Given the description of an element on the screen output the (x, y) to click on. 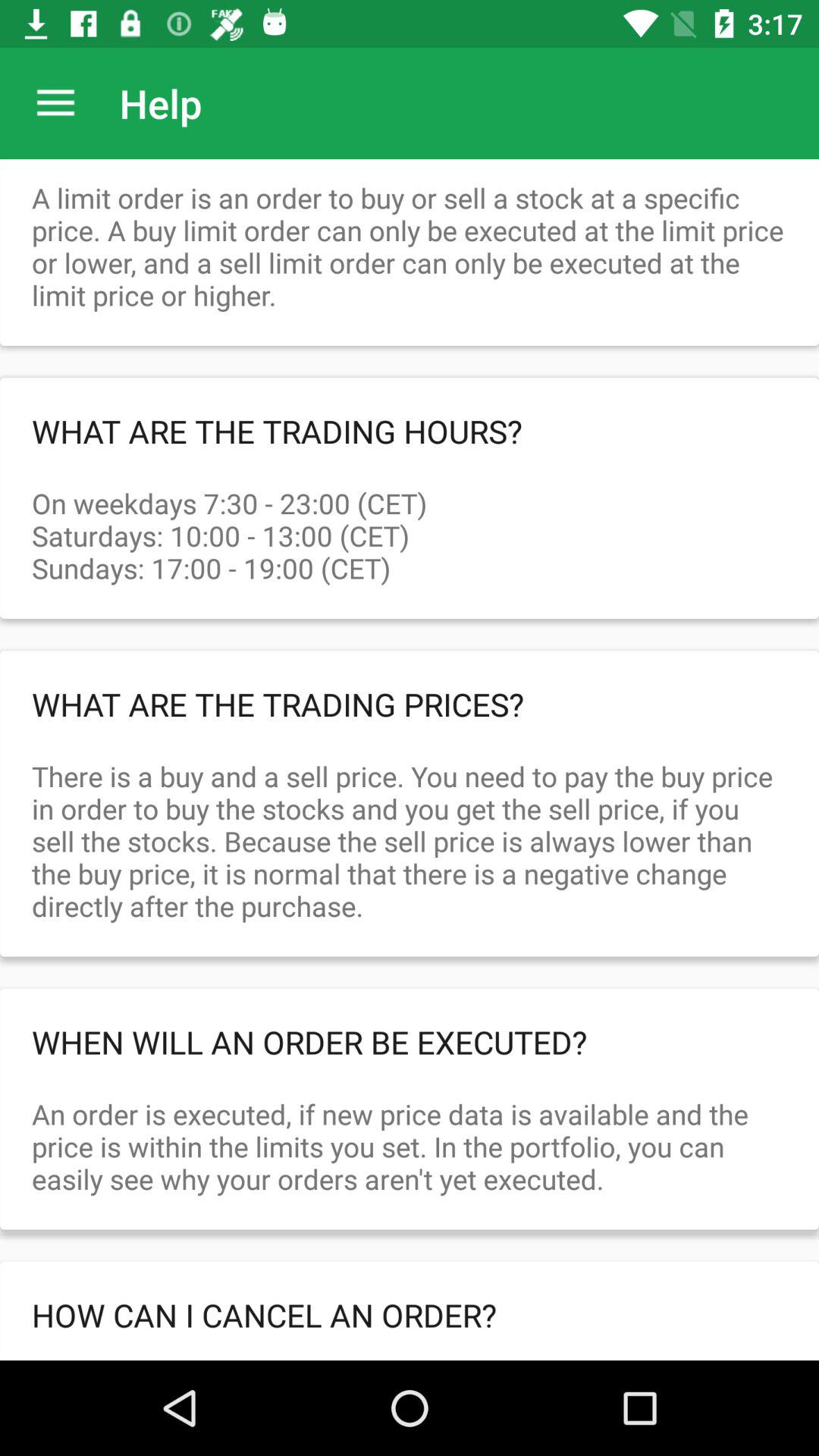
jump to the how can i item (409, 1314)
